Given the description of an element on the screen output the (x, y) to click on. 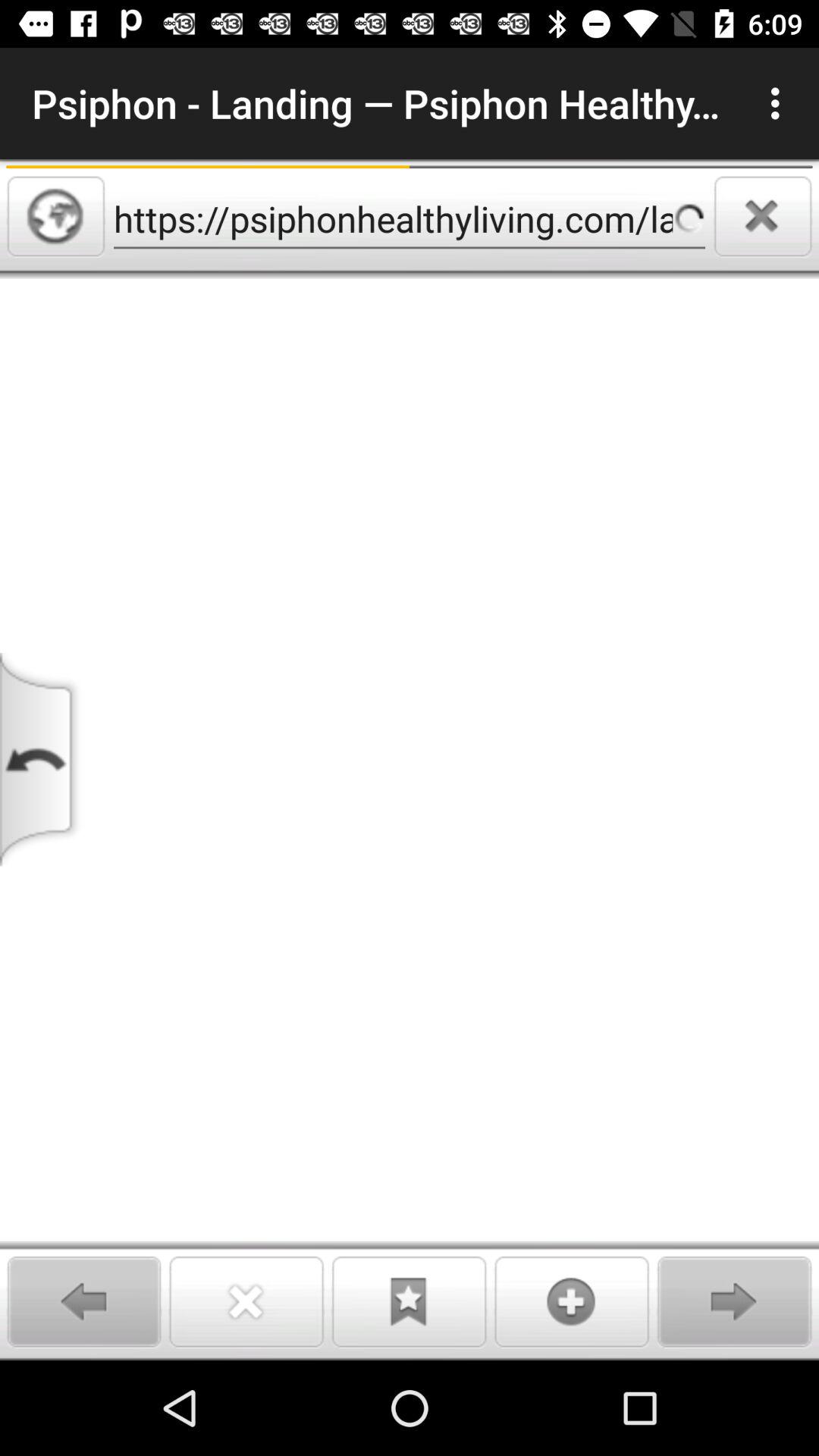
clear search results (762, 216)
